Given the description of an element on the screen output the (x, y) to click on. 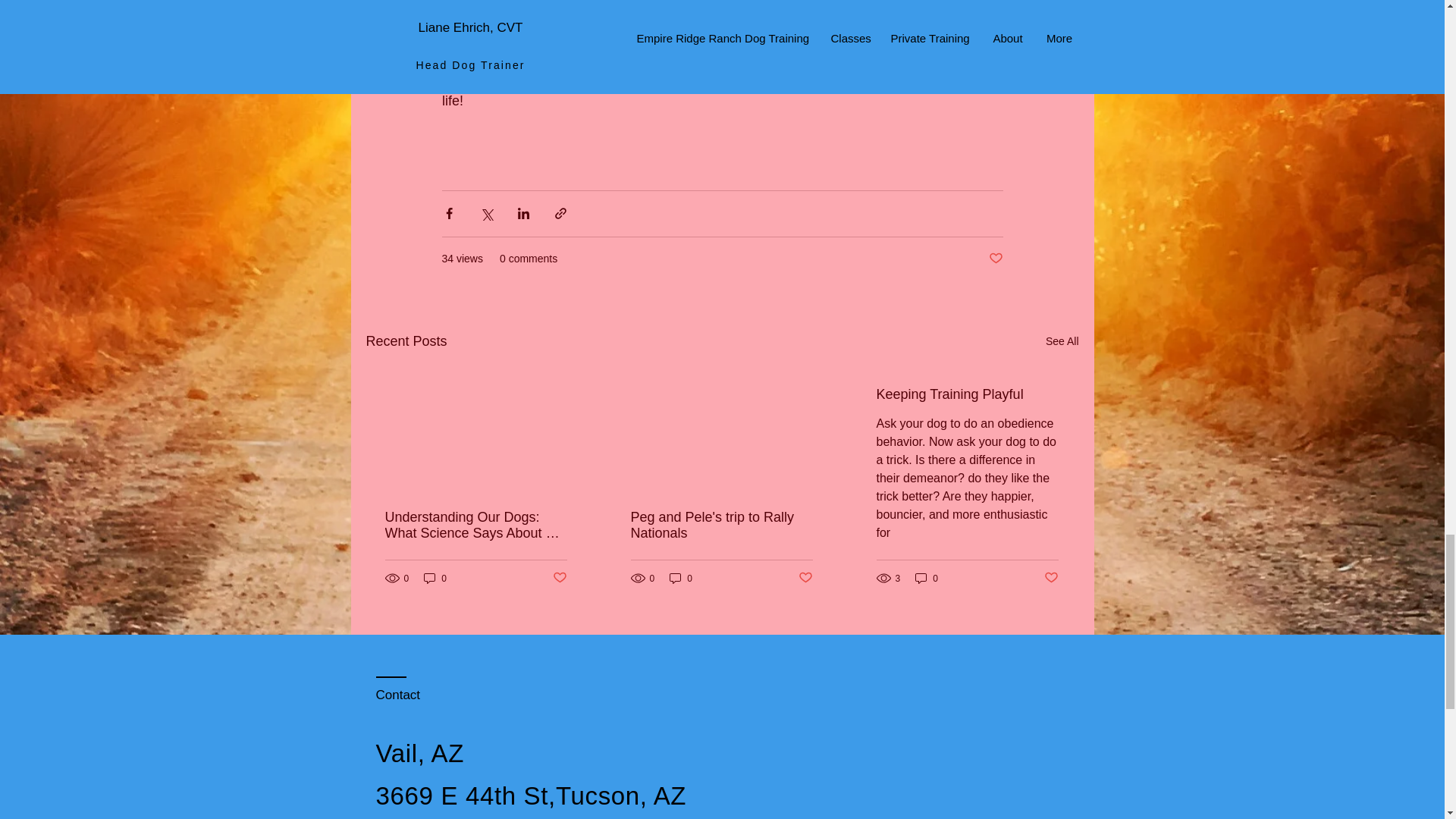
See All (1061, 341)
Post not marked as liked (804, 578)
0 (926, 577)
0 (681, 577)
Post not marked as liked (558, 578)
Post not marked as liked (995, 258)
Peg and Pele's trip to Rally Nationals (721, 525)
0 (435, 577)
Keeping Training Playful (967, 394)
